Given the description of an element on the screen output the (x, y) to click on. 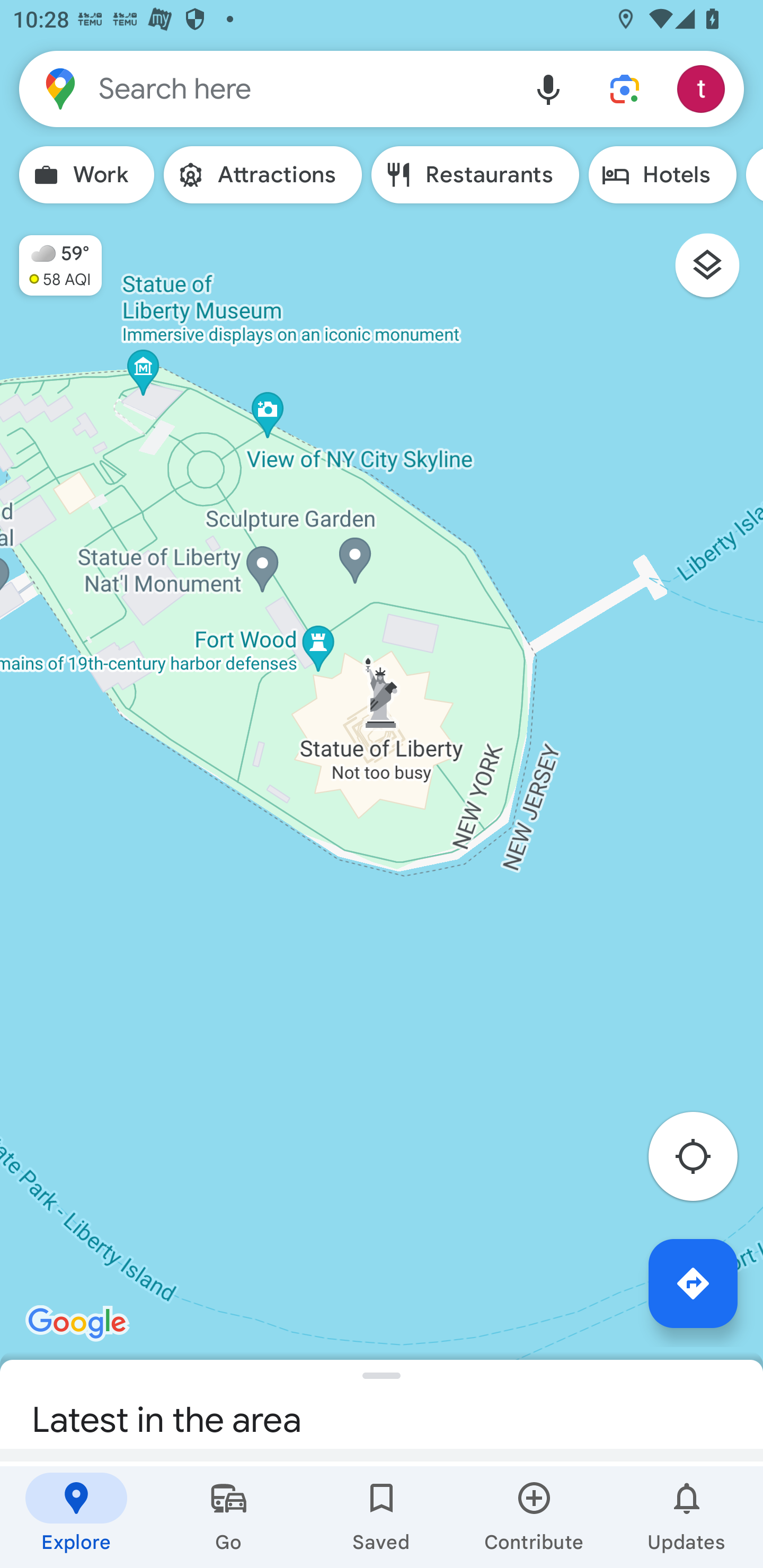
Search here (264, 88)
Voice search (548, 88)
Lens in Maps (624, 88)
Work (86, 174)
Attractions Search for Attractions (262, 174)
Restaurants Search for Restaurants (475, 174)
Hotels Search for Hotels (662, 174)
Cloudy, 59°, Moderate, 58 AQI 59° 58 AQI (50, 257)
Layers (716, 271)
Re-center map to your location (702, 1161)
Directions (692, 1283)
Go (228, 1517)
Saved (381, 1517)
Contribute (533, 1517)
Updates (686, 1517)
